Given the description of an element on the screen output the (x, y) to click on. 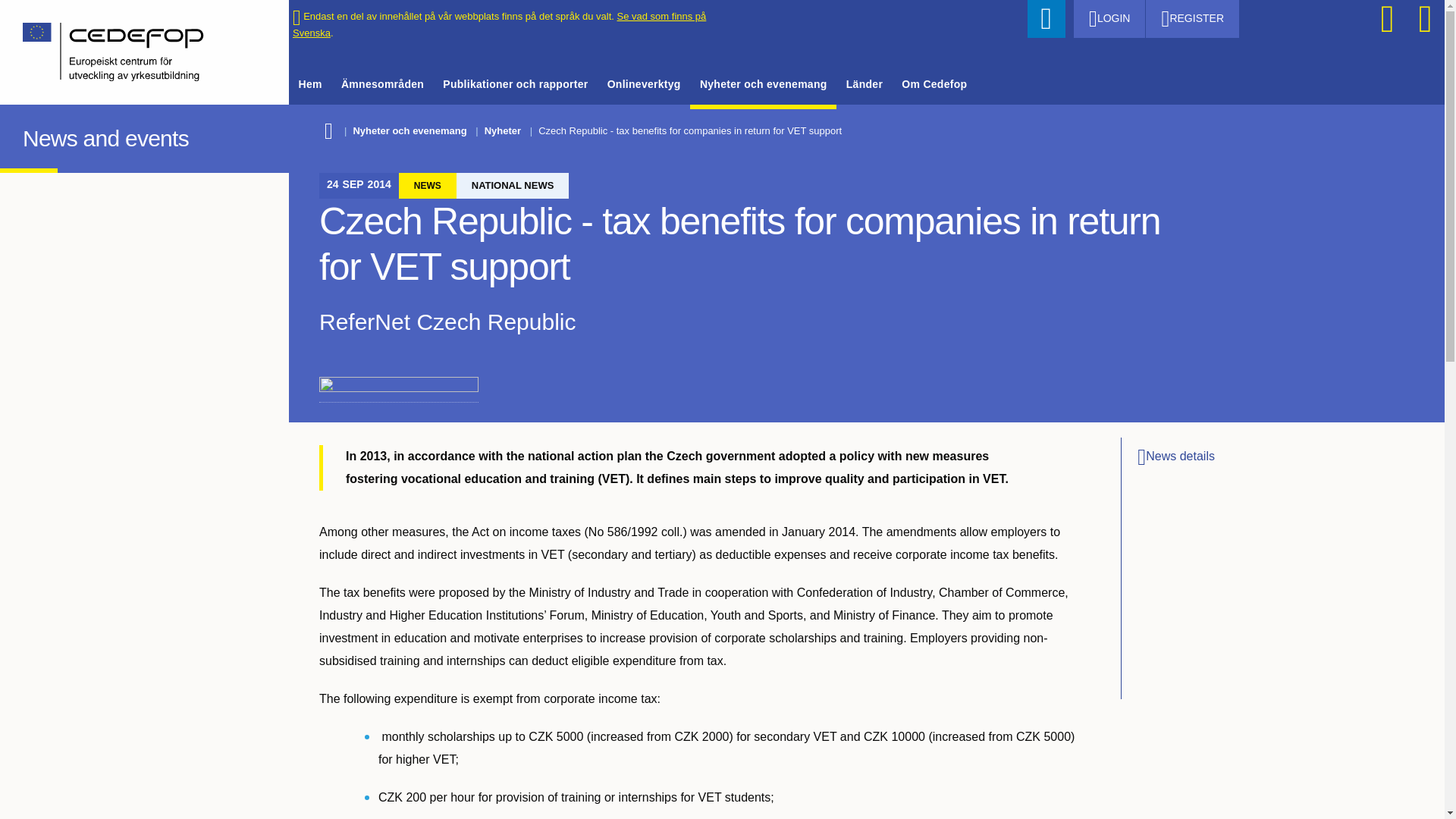
Home (37, 135)
Home (133, 52)
Apply (1046, 18)
CEDEFOP (37, 135)
